Given the description of an element on the screen output the (x, y) to click on. 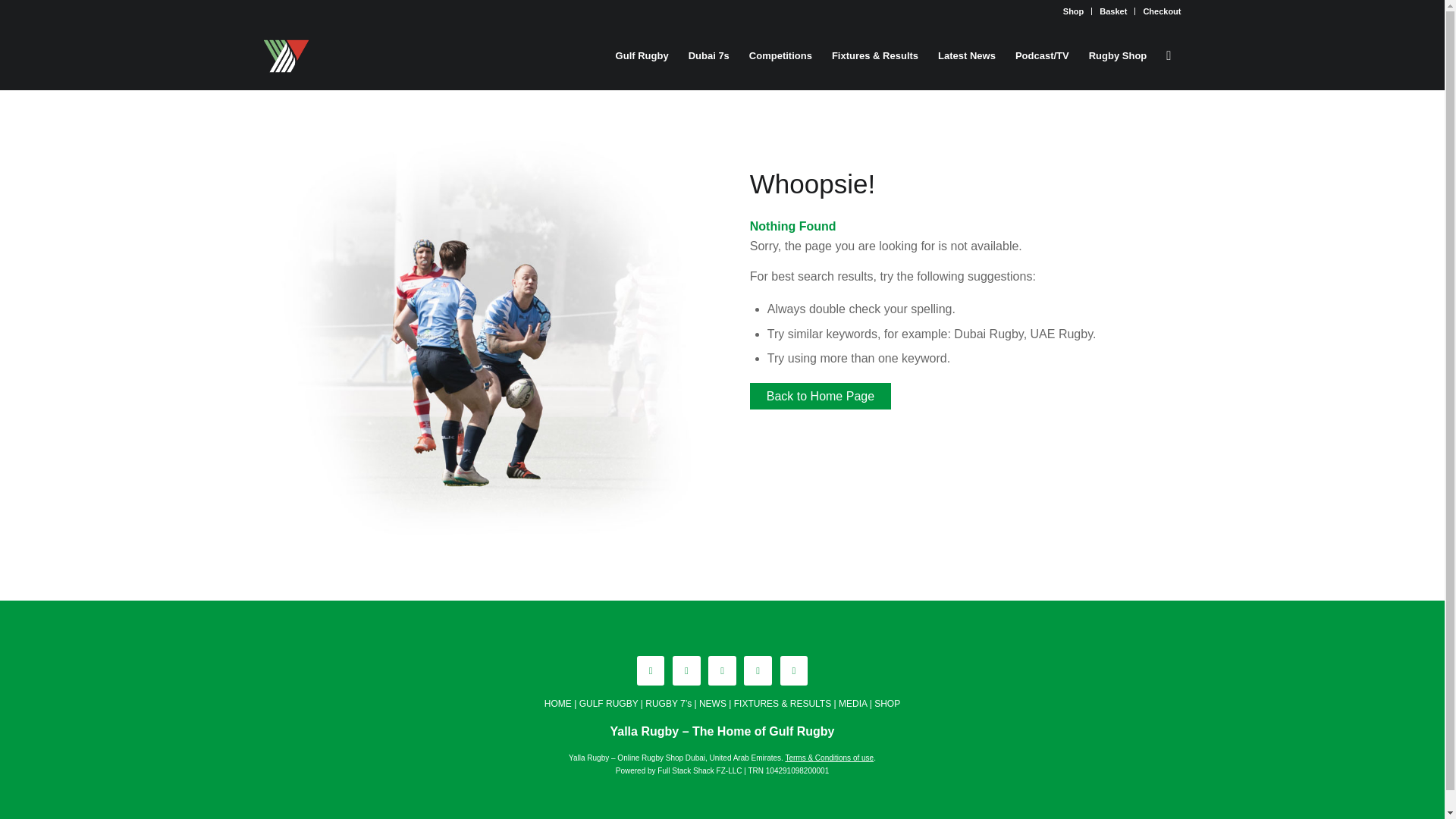
Back to Home Page (820, 396)
Shop (1073, 11)
MEDIA (852, 703)
Checkout (1161, 11)
Latest News (967, 56)
Gulf Rugby (641, 56)
NEWS (712, 703)
Basket (1112, 11)
Competitions (780, 56)
GULF RUGBY (609, 703)
Rugby Shop (1117, 56)
HOME (558, 703)
SHOP (887, 703)
